Given the description of an element on the screen output the (x, y) to click on. 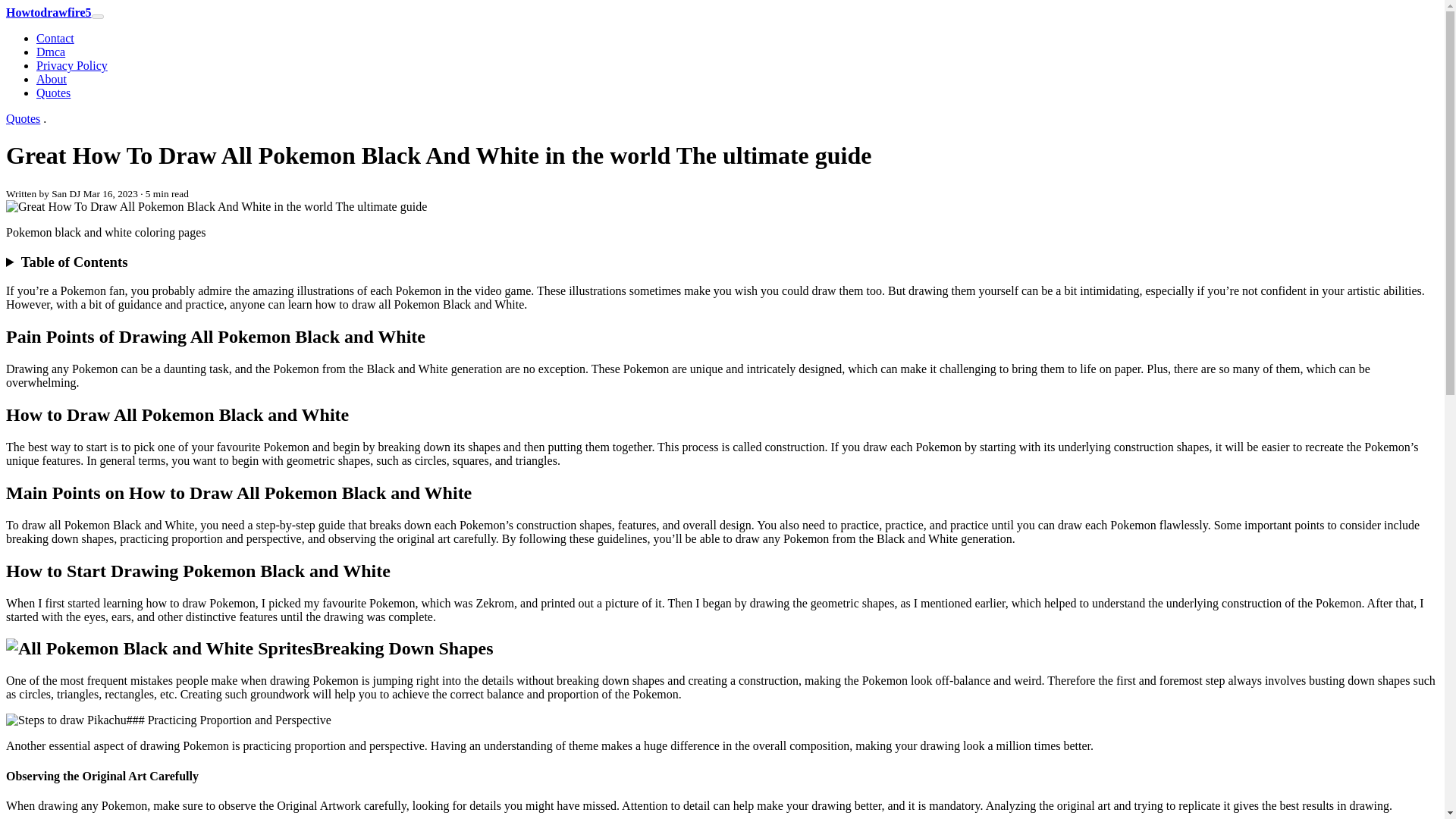
Quotes (52, 92)
Privacy Policy (71, 65)
Contact (55, 38)
All Pokemon Black and White Sprites (159, 648)
Quotes (52, 92)
Howtodrawfire5 (48, 11)
Quotes (22, 118)
Dmca (50, 51)
Steps to draw Pikachu (65, 720)
Quotes (22, 118)
About (51, 78)
